Given the description of an element on the screen output the (x, y) to click on. 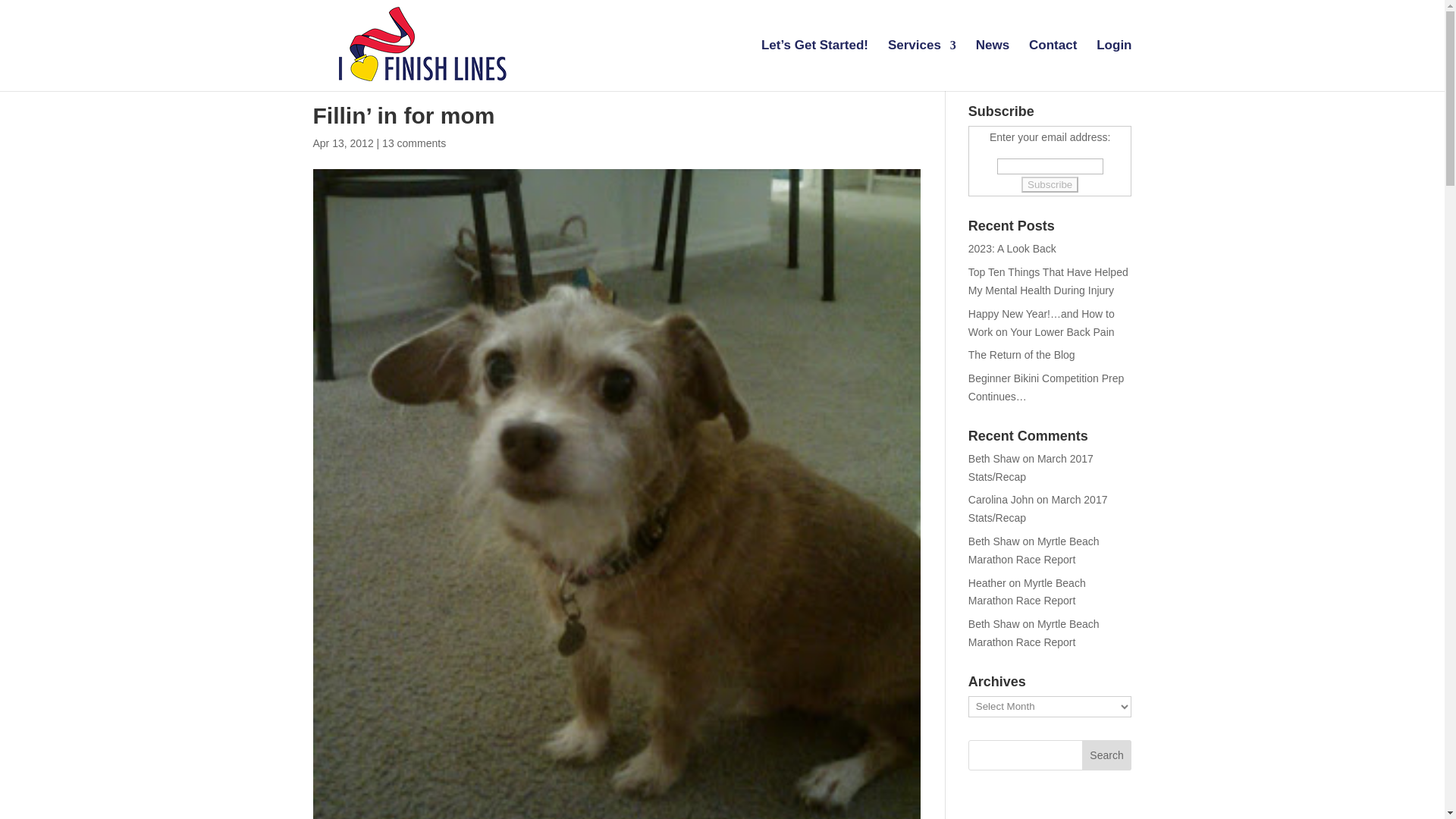
Subscribe (1050, 184)
Contact (1053, 65)
Services (922, 65)
Search (1106, 755)
Subscribe (1050, 184)
13 comments (413, 143)
News (992, 65)
2023: A Look Back (1012, 248)
Login (1113, 65)
